Given the description of an element on the screen output the (x, y) to click on. 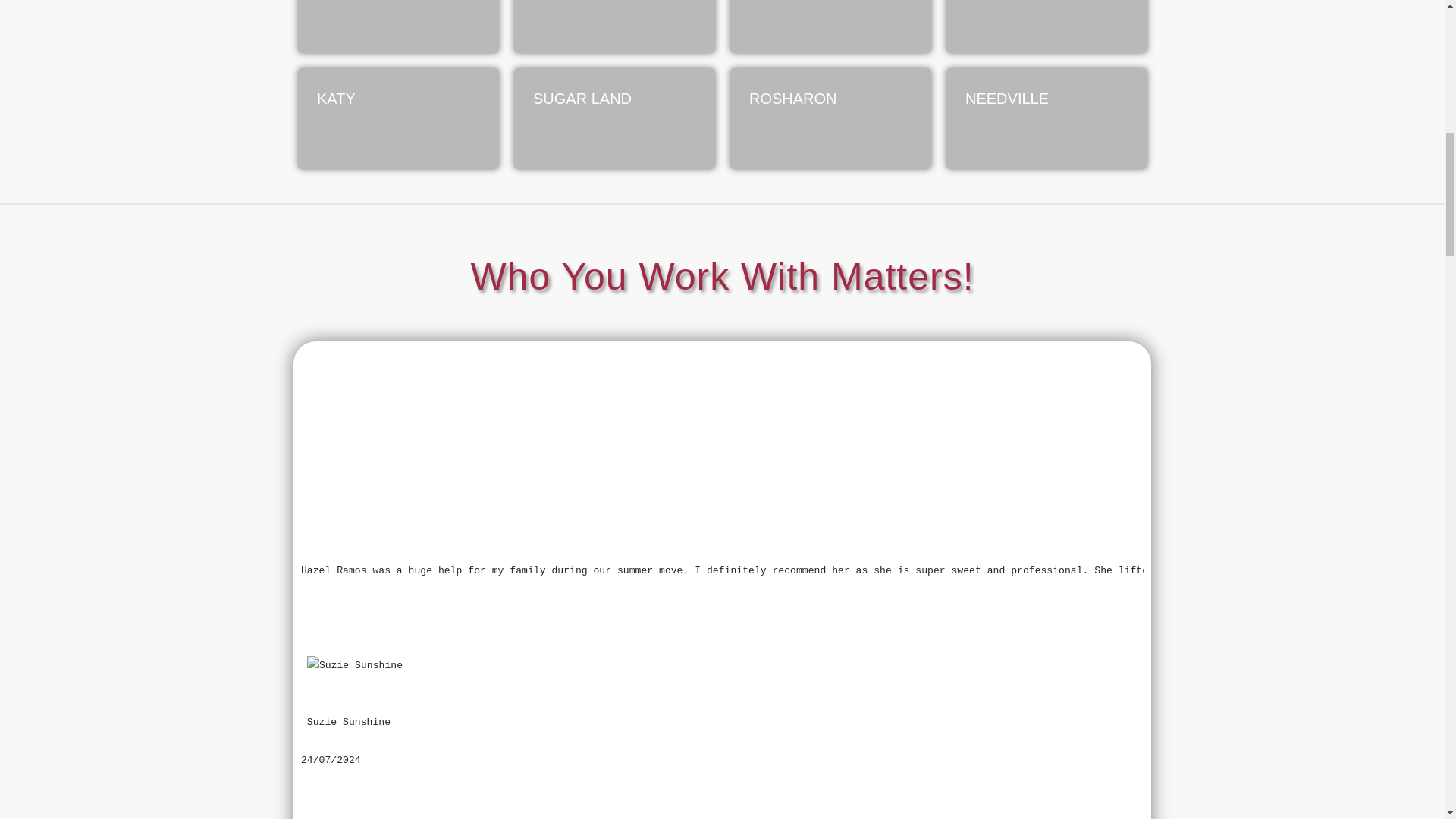
NEEDVILLE (1046, 117)
RICHMOND (397, 26)
HOUSTON (613, 26)
CYPRESS (1046, 26)
KATY (397, 117)
ROSHARON (829, 117)
ROSENBERG (829, 26)
SUGAR LAND (613, 117)
